Given the description of an element on the screen output the (x, y) to click on. 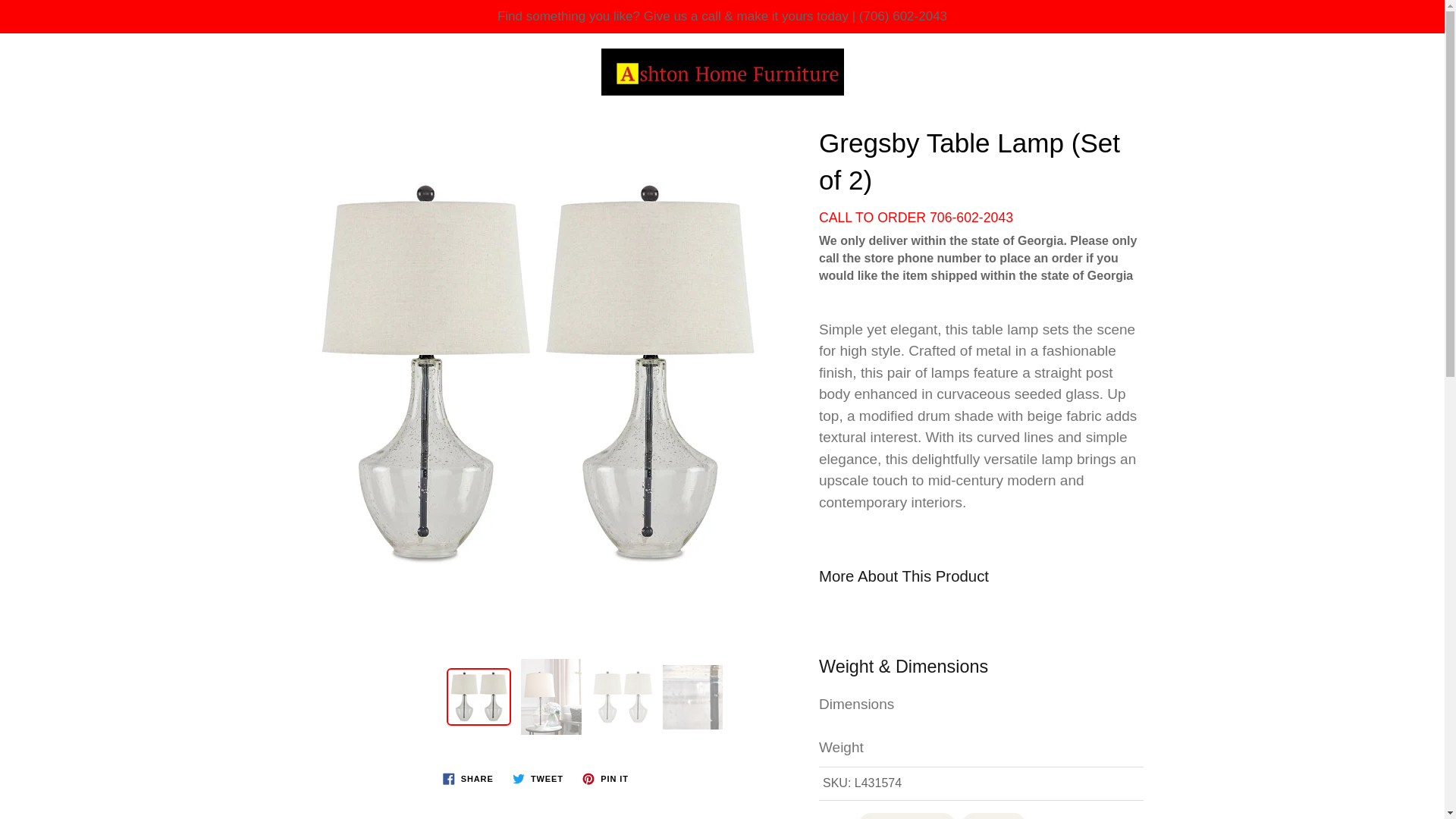
Home (641, 78)
BEDROOM (557, 129)
LIVING ROOM (283, 129)
DINING ROOM (425, 129)
MATTRESS (678, 129)
HOME (172, 129)
Search (28, 59)
